Given the description of an element on the screen output the (x, y) to click on. 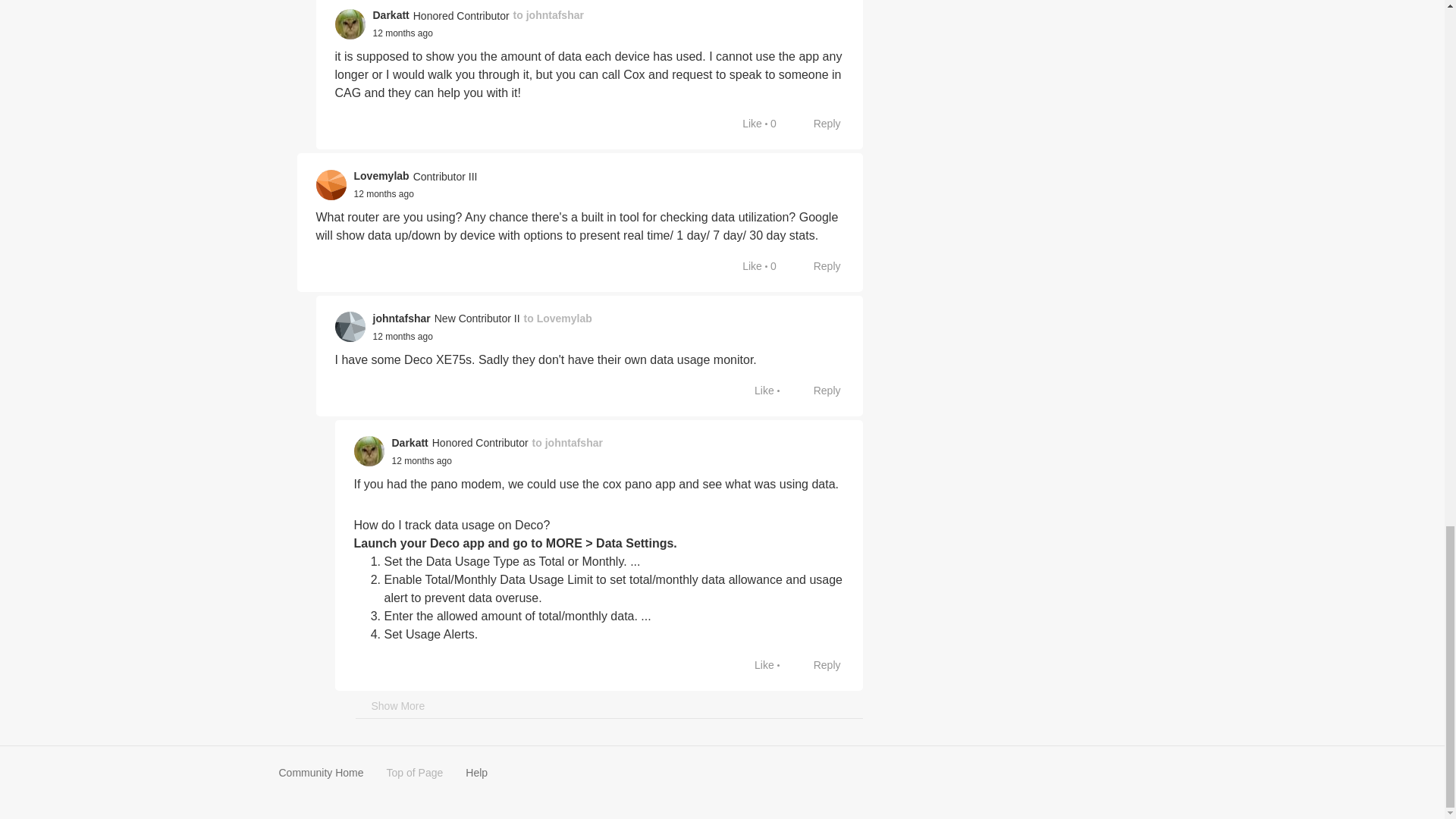
August 6, 2023 at 6:14 AM (421, 460)
August 5, 2023 at 2:47 AM (402, 336)
August 16, 2023 at 12:27 AM (402, 32)
August 4, 2023 at 5:04 AM (383, 194)
